Given the description of an element on the screen output the (x, y) to click on. 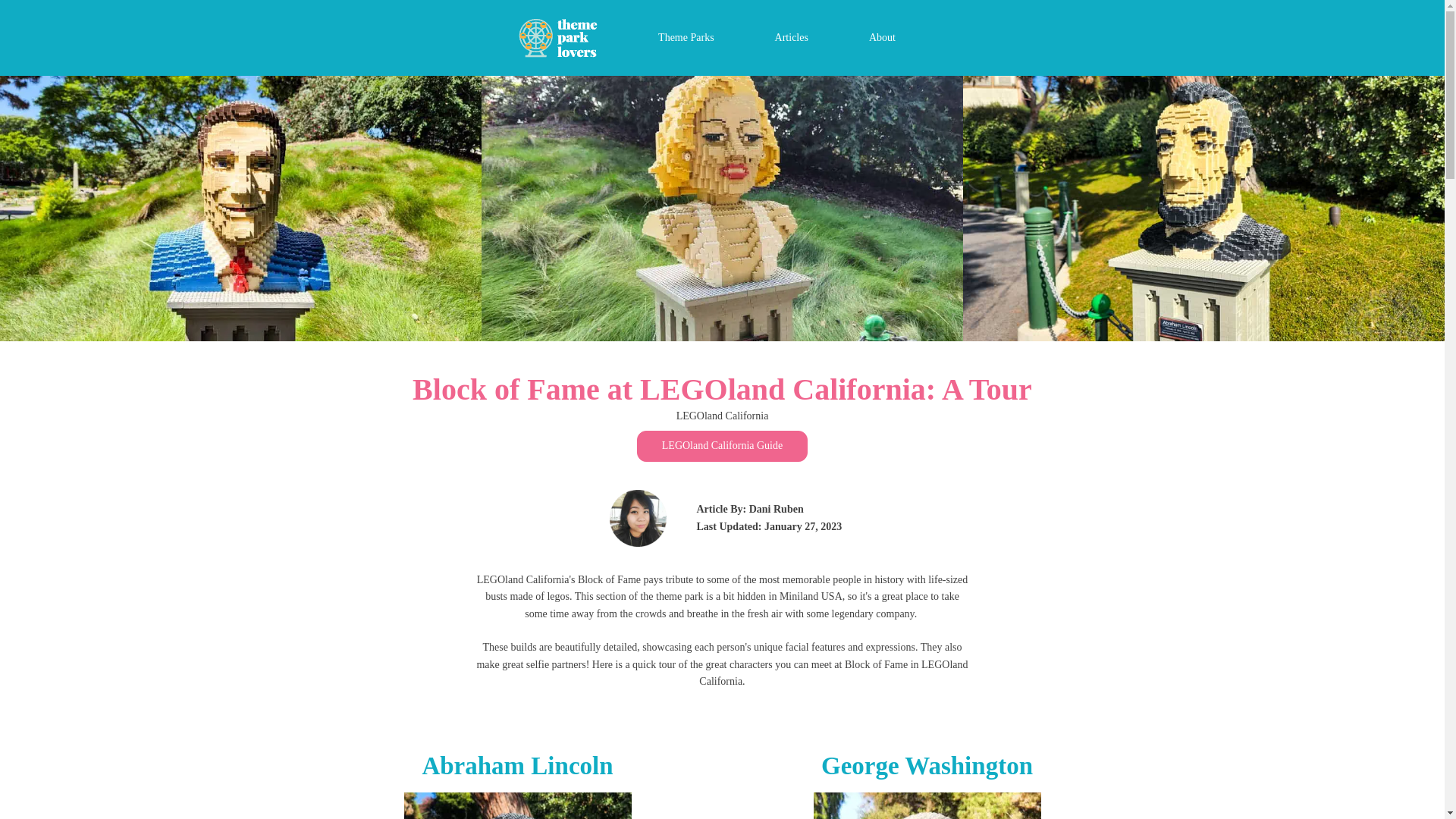
Theme Parks (685, 38)
